Given the description of an element on the screen output the (x, y) to click on. 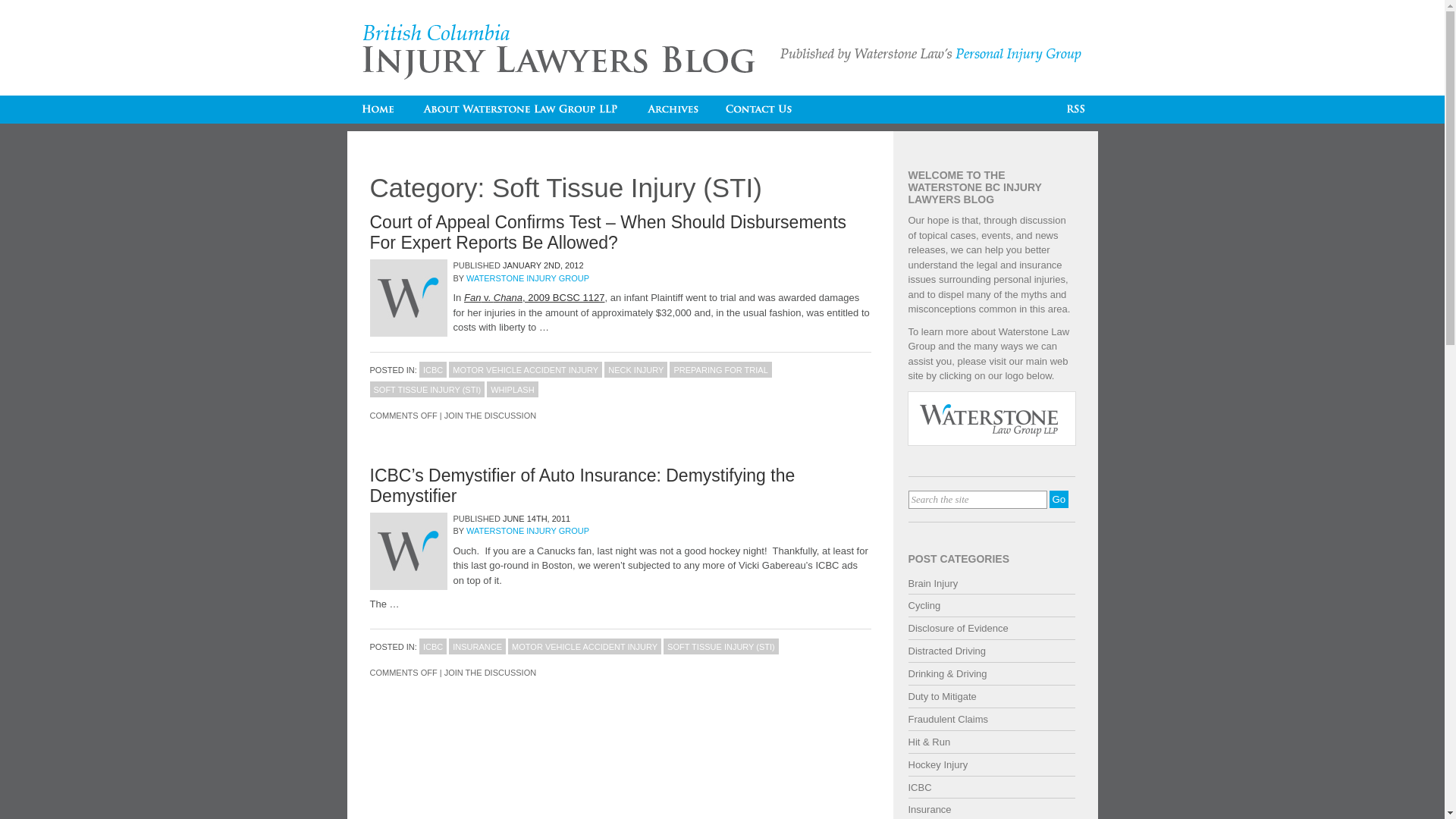
Go Element type: text (1059, 498)
INSURANCE Element type: text (476, 646)
JOIN THE DISCUSSION Element type: text (490, 671)
WHIPLASH Element type: text (511, 388)
Contact Us Element type: text (758, 109)
SOFT TISSUE INJURY (STI) Element type: text (427, 388)
Duty to Mitigate Element type: text (942, 696)
Fan v. Chana, 2009 BCSC 1127 Element type: text (534, 297)
MOTOR VEHICLE ACCIDENT INJURY Element type: text (525, 368)
Disclosure of Evidence Element type: text (958, 627)
ICBC Element type: text (432, 368)
WATERSTONE INJURY GROUP Element type: text (527, 530)
BC Injury Lawyers Blog Element type: text (559, 51)
Drinking & Driving Element type: text (947, 673)
JOIN THE DISCUSSION Element type: text (490, 415)
Hit & Run Element type: text (929, 741)
Archives Element type: text (671, 109)
RSS Element type: text (1076, 109)
NECK INJURY Element type: text (635, 368)
WATERSTONE INJURY GROUP Element type: text (527, 277)
Distracted Driving Element type: text (947, 650)
Fraudulent Claims Element type: text (948, 718)
Published by Waterstone Law's Personal Injury Group Element type: text (929, 54)
ICBC Element type: text (919, 787)
Hockey Injury Element type: text (938, 764)
Brain Injury Element type: text (933, 583)
MOTOR VEHICLE ACCIDENT INJURY Element type: text (584, 646)
PREPARING FOR TRIAL Element type: text (720, 368)
Cycling Element type: text (924, 605)
About Waterstone Law LLP Element type: text (520, 109)
ICBC Element type: text (432, 646)
SOFT TISSUE INJURY (STI) Element type: text (720, 646)
Insurance Element type: text (929, 809)
Home Element type: text (377, 109)
